Given the description of an element on the screen output the (x, y) to click on. 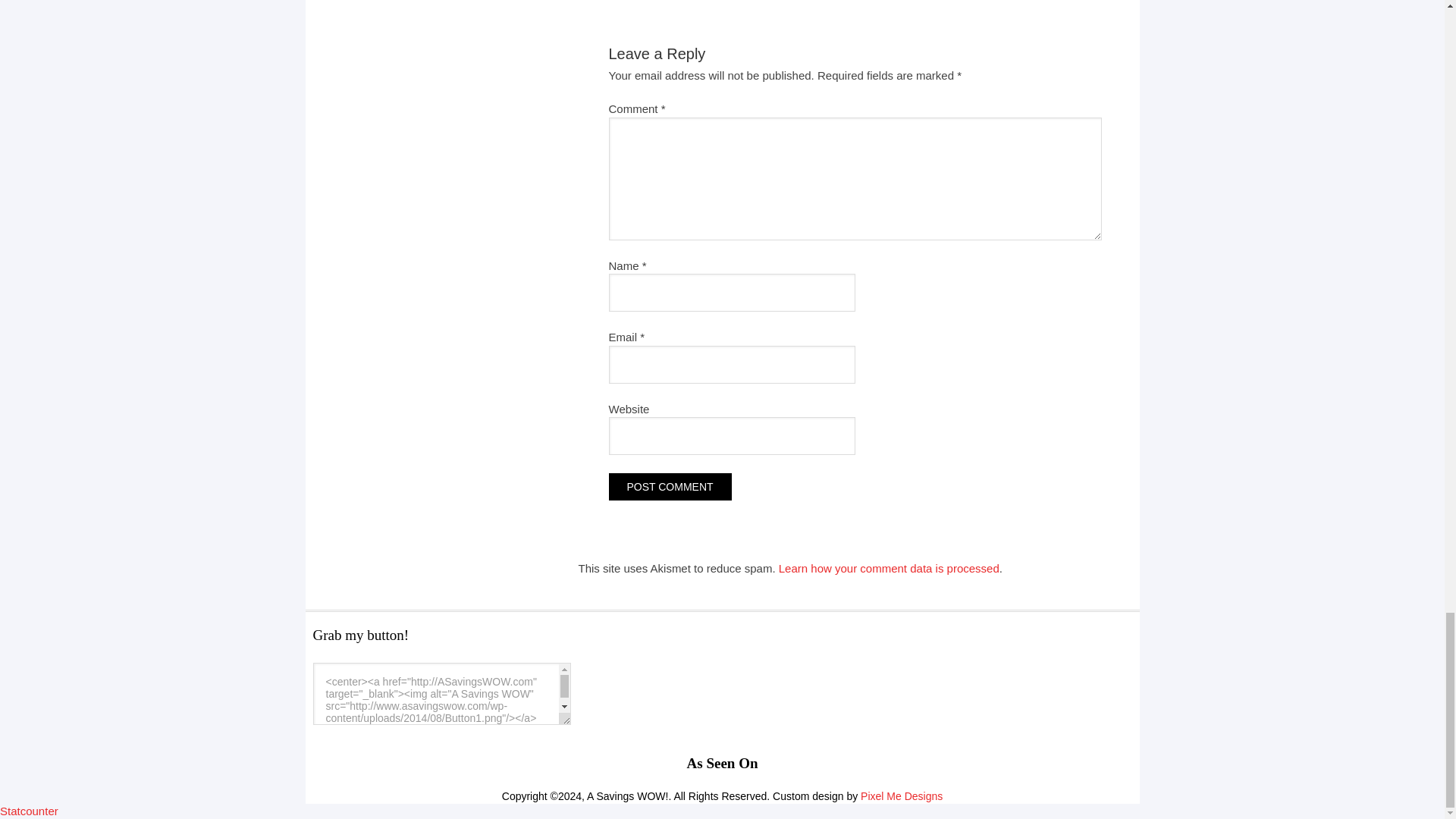
Post Comment (669, 486)
